Given the description of an element on the screen output the (x, y) to click on. 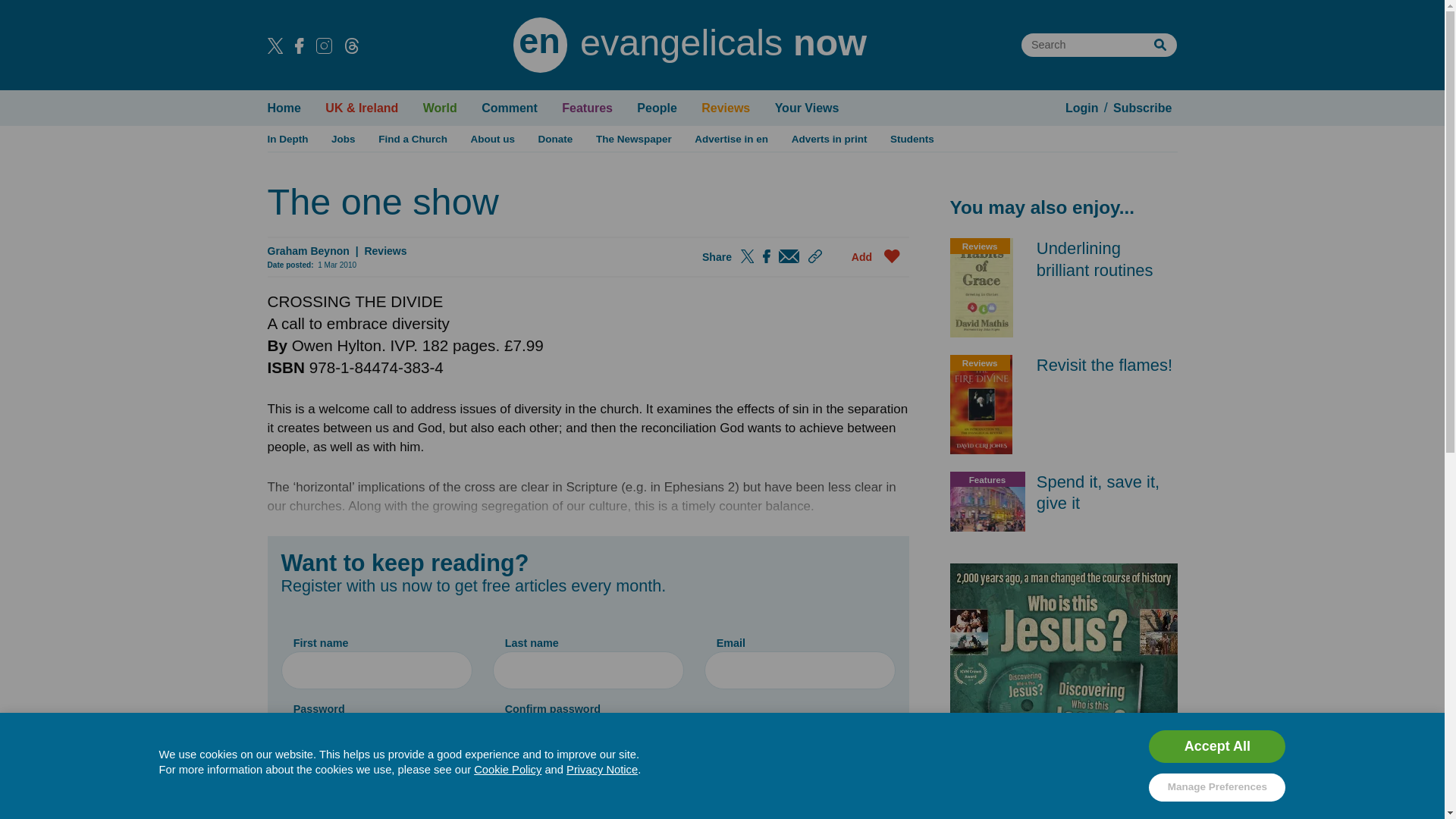
Jobs (343, 138)
Subscribe (1142, 108)
Login (1081, 108)
Donate (555, 138)
Features (586, 108)
In Depth (288, 138)
World (440, 108)
Find a Church (412, 138)
Add        (879, 256)
Your Views (806, 108)
